Given the description of an element on the screen output the (x, y) to click on. 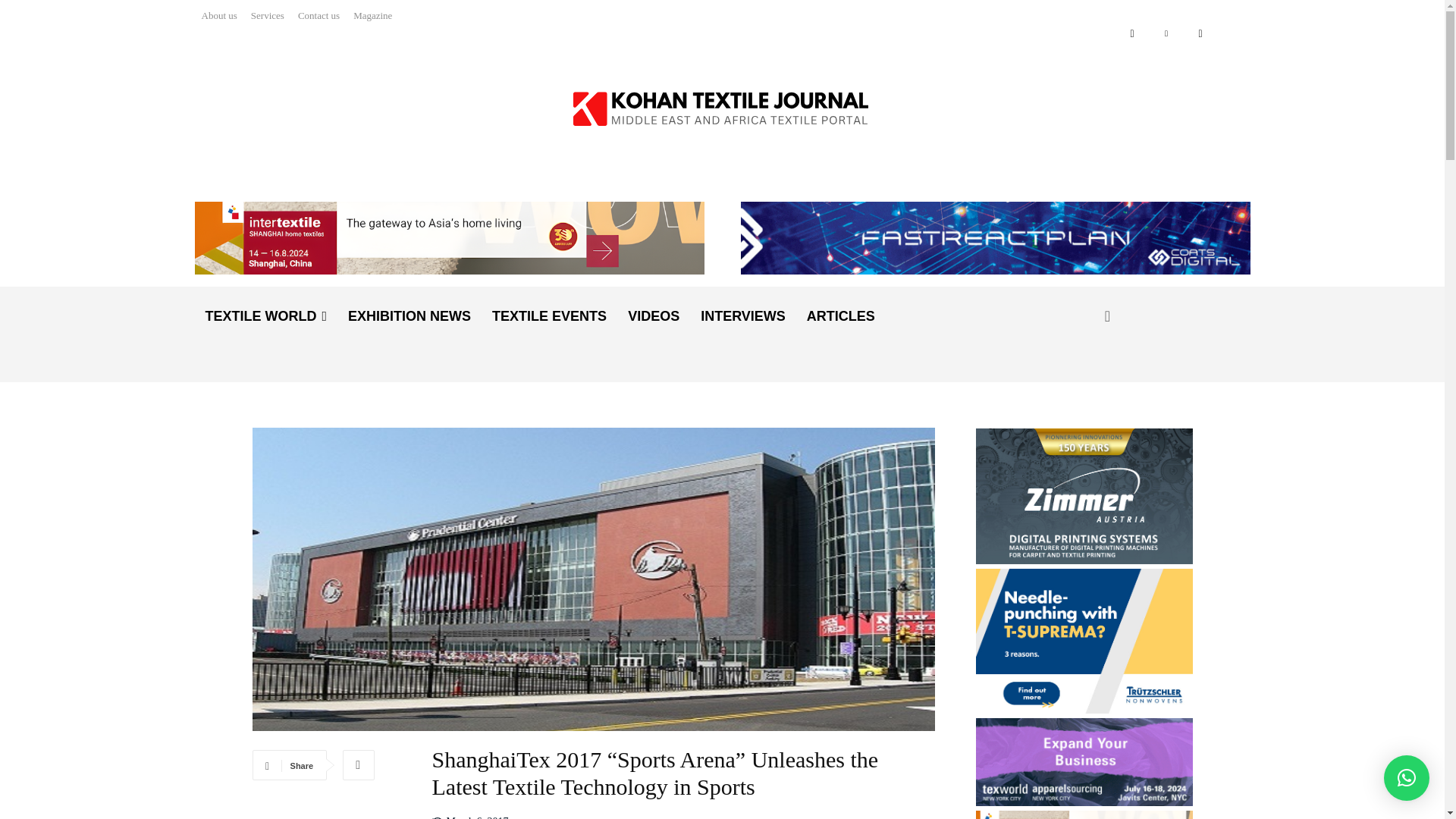
About us (219, 15)
Linkedin (1166, 33)
Twitter (1201, 33)
TEXTILE WORLD (265, 316)
Magazine (372, 15)
Contact us (318, 15)
Services (267, 15)
Facebook (1132, 33)
